Given the description of an element on the screen output the (x, y) to click on. 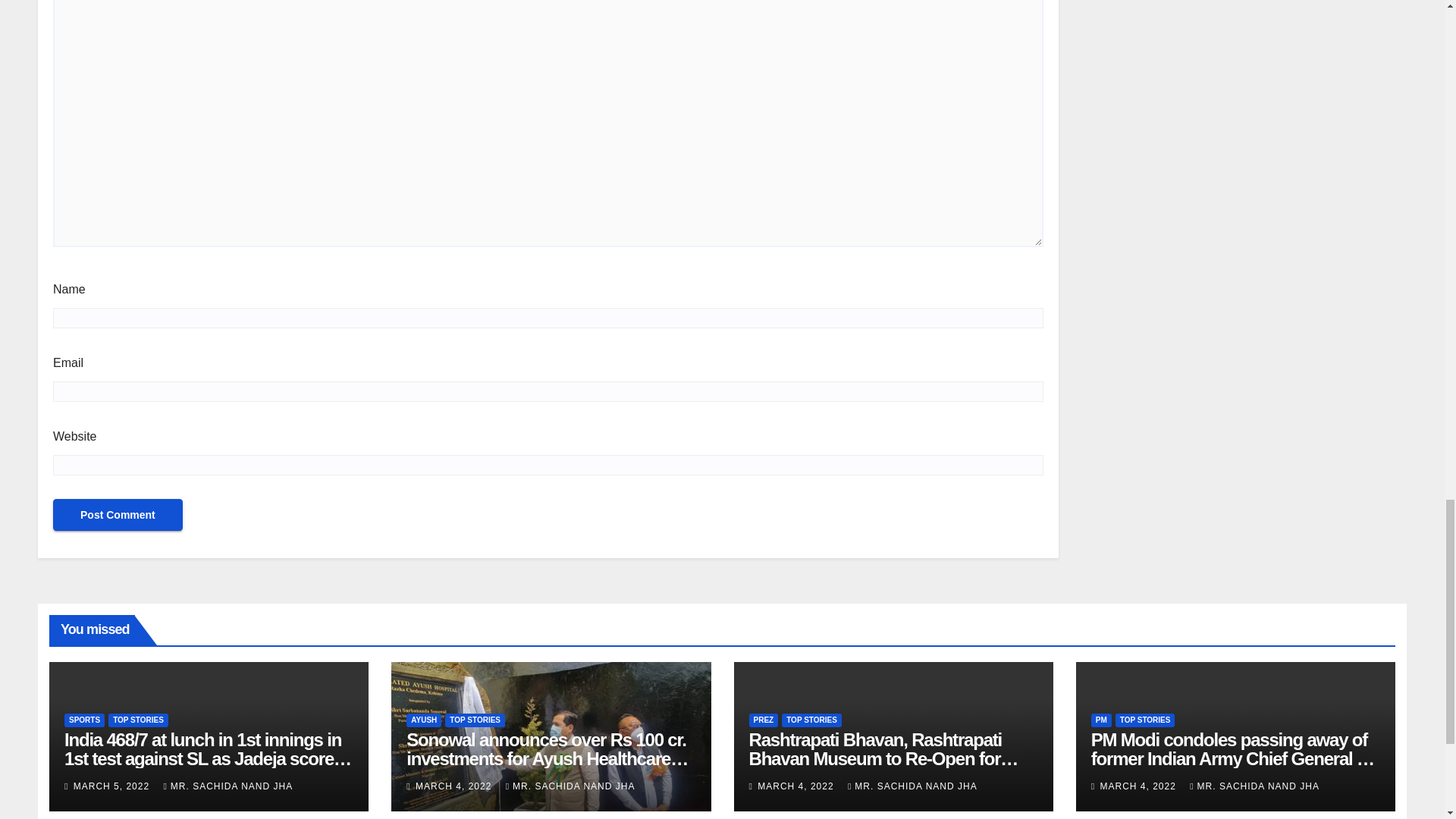
Post Comment (117, 514)
